Given the description of an element on the screen output the (x, y) to click on. 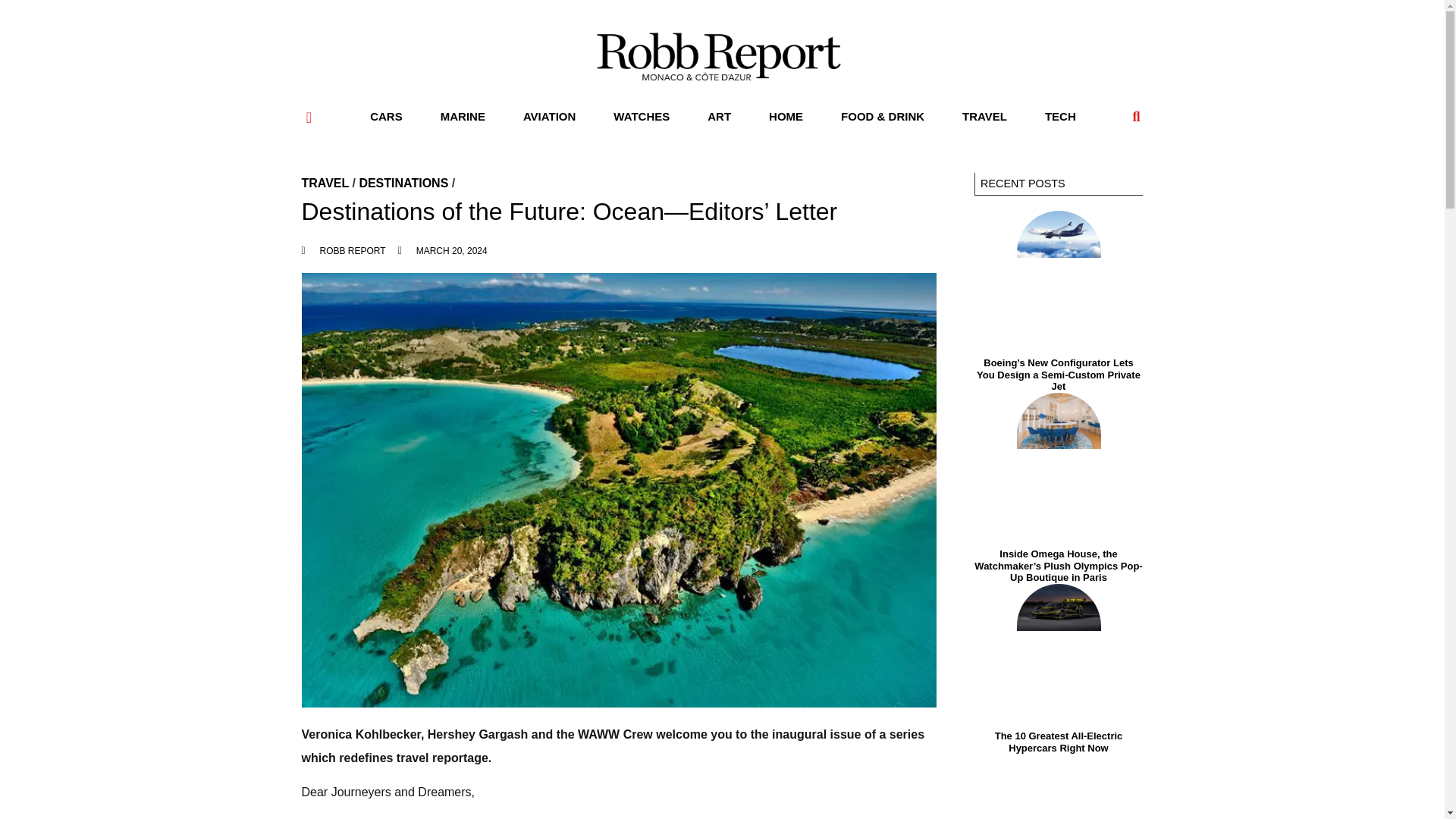
TRAVEL (984, 116)
AVIATION (548, 116)
HOME (785, 116)
MARINE (462, 116)
WATCHES (640, 116)
TECH (1060, 116)
CARS (386, 116)
